Given the description of an element on the screen output the (x, y) to click on. 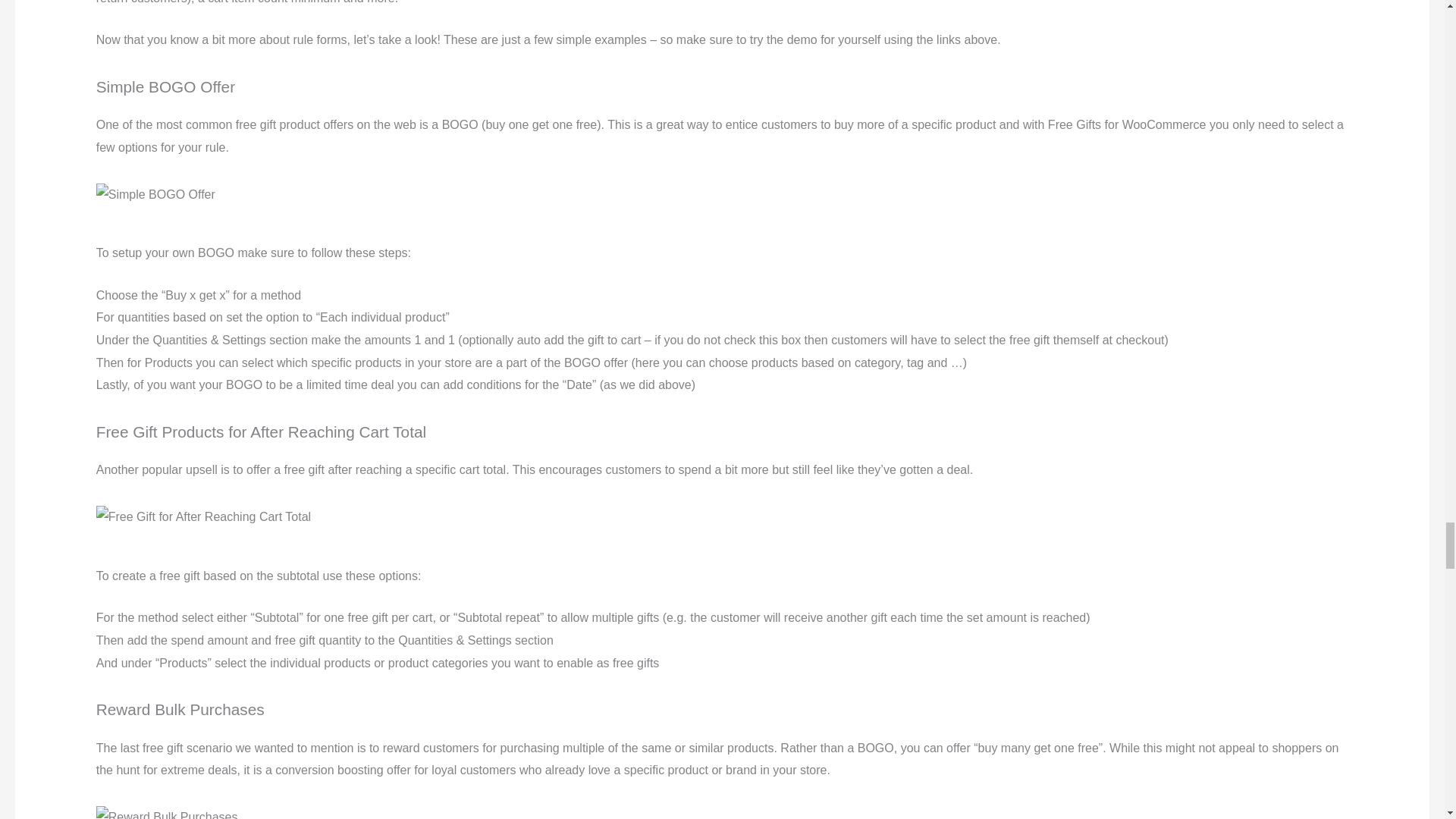
Reward Bulk Purchases (167, 812)
Free Gift for After Reaching Cart Total (203, 517)
Simple BOGO Offer (155, 194)
